Given the description of an element on the screen output the (x, y) to click on. 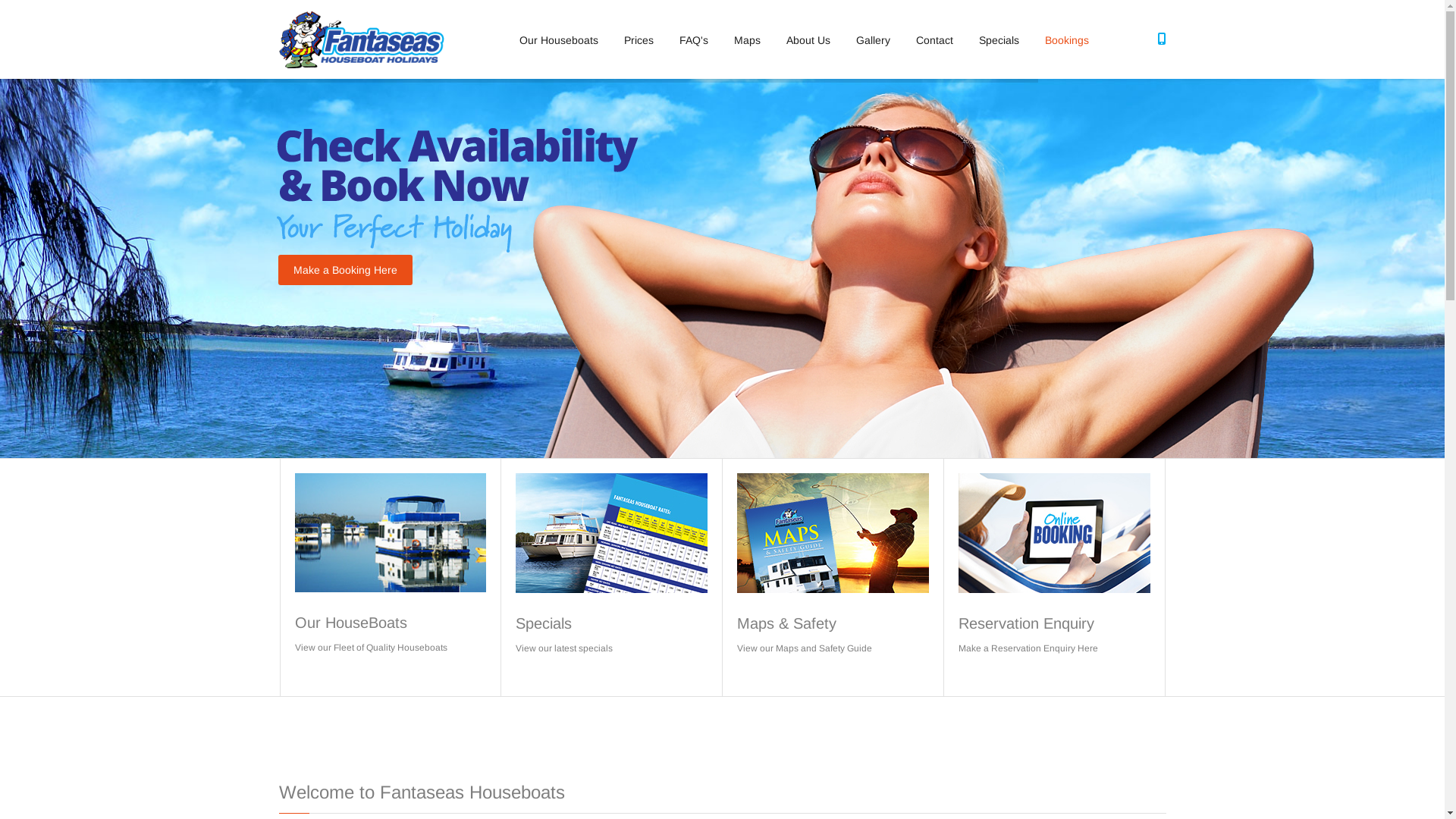
About Us Element type: text (807, 39)
Specials Element type: text (998, 39)
FAQ's Element type: text (693, 39)
Reservation Enquiry
Make a Reservation Enquiry Here Element type: text (1053, 577)
Maps & Safety
View our Maps and Safety Guide Element type: text (832, 577)
Maps Element type: text (747, 39)
Make a Booking Here Element type: text (344, 269)
Contact Element type: text (934, 39)
Gallery Element type: text (872, 39)
Specials
View our latest specials Element type: text (610, 577)
Prices Element type: text (637, 39)
Bookings Element type: text (1066, 39)
Our HouseBoats
View our Fleet of Quality Houseboats Element type: text (389, 577)
Our Houseboats Element type: text (558, 39)
